Given the description of an element on the screen output the (x, y) to click on. 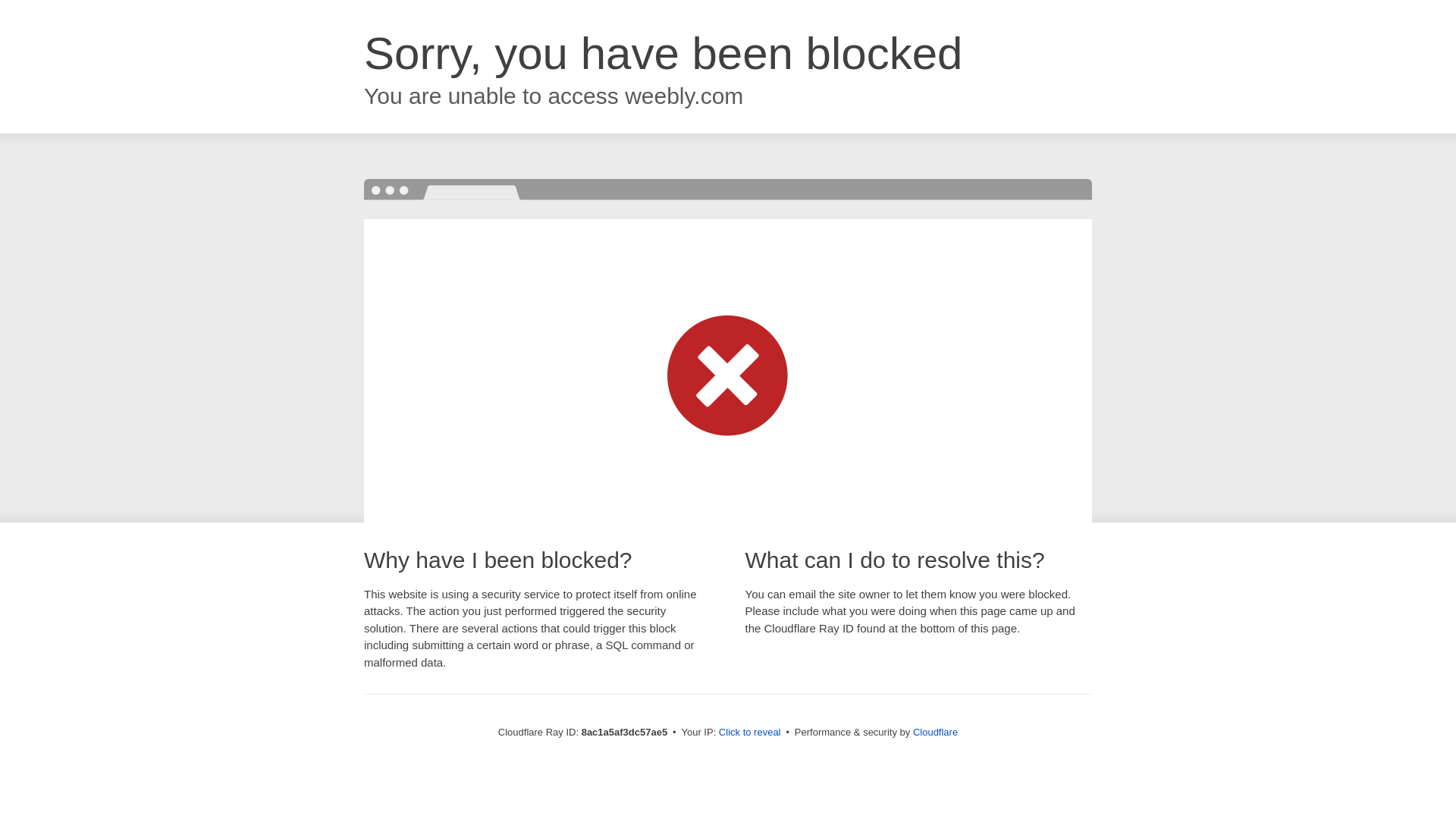
Click to reveal (749, 732)
Cloudflare (935, 731)
